Given the description of an element on the screen output the (x, y) to click on. 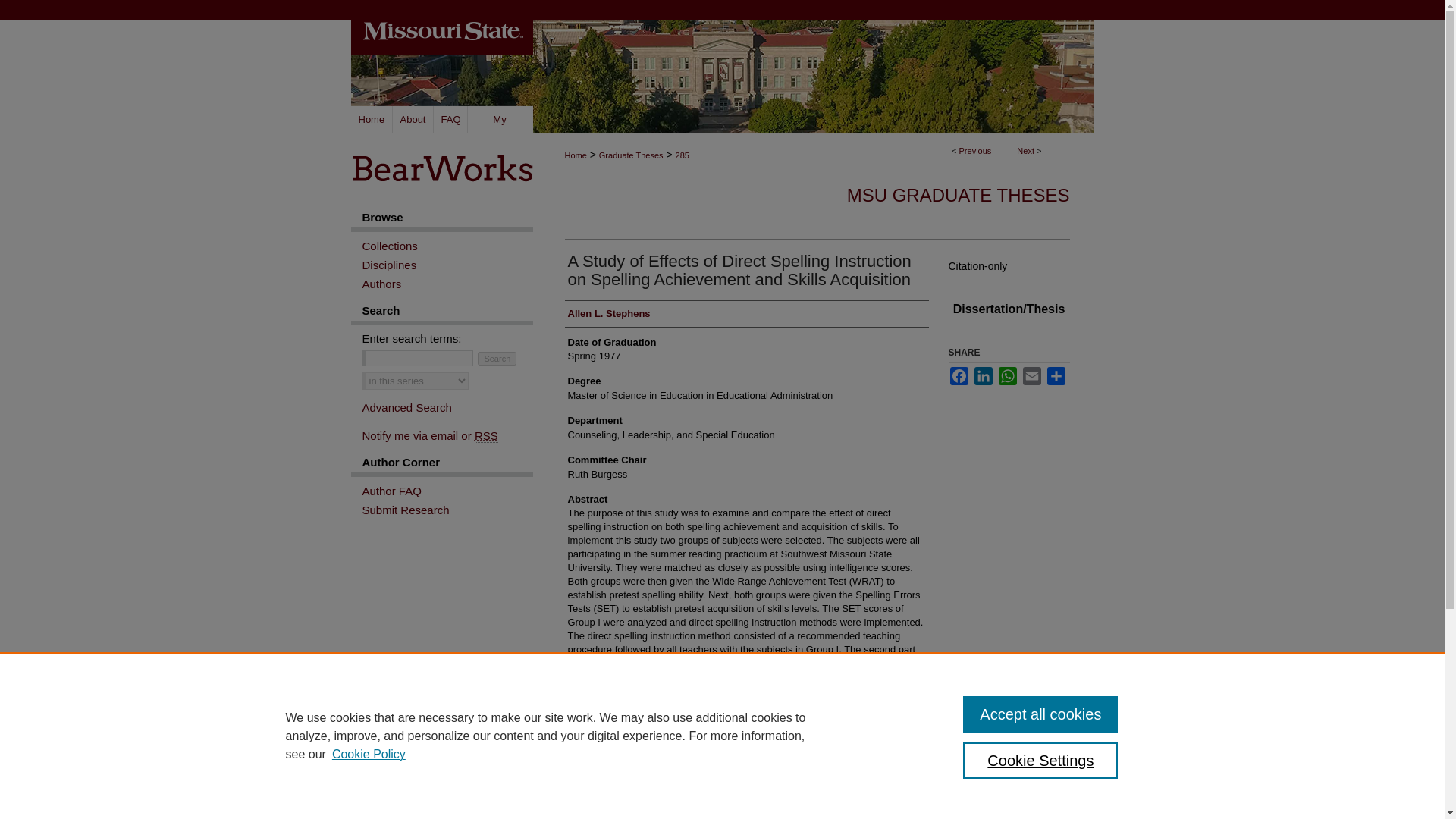
Search (496, 358)
Graduate Theses (630, 154)
Email (1031, 375)
Next (1024, 150)
Browse by Author (447, 283)
My Account (499, 119)
My Account (499, 119)
About (413, 119)
WhatsApp (1006, 375)
Advanced Search (406, 407)
285 (681, 154)
Share (1055, 375)
Notify me via email or RSS (447, 435)
Previous (975, 150)
Facebook (958, 375)
